Given the description of an element on the screen output the (x, y) to click on. 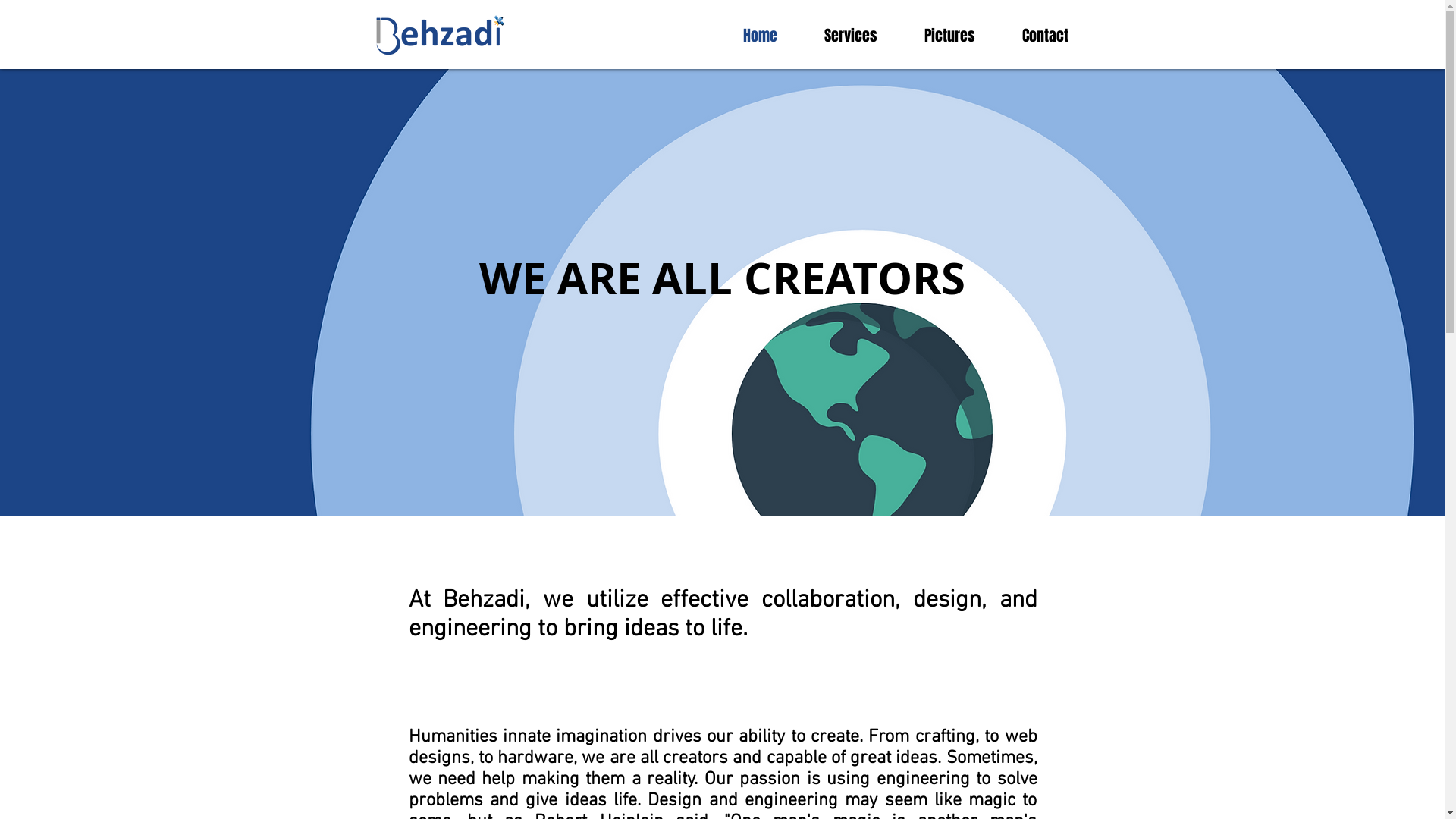
Pictures Element type: text (949, 35)
Services Element type: text (850, 35)
Contact Element type: text (1044, 35)
Home Element type: text (759, 35)
